Given the description of an element on the screen output the (x, y) to click on. 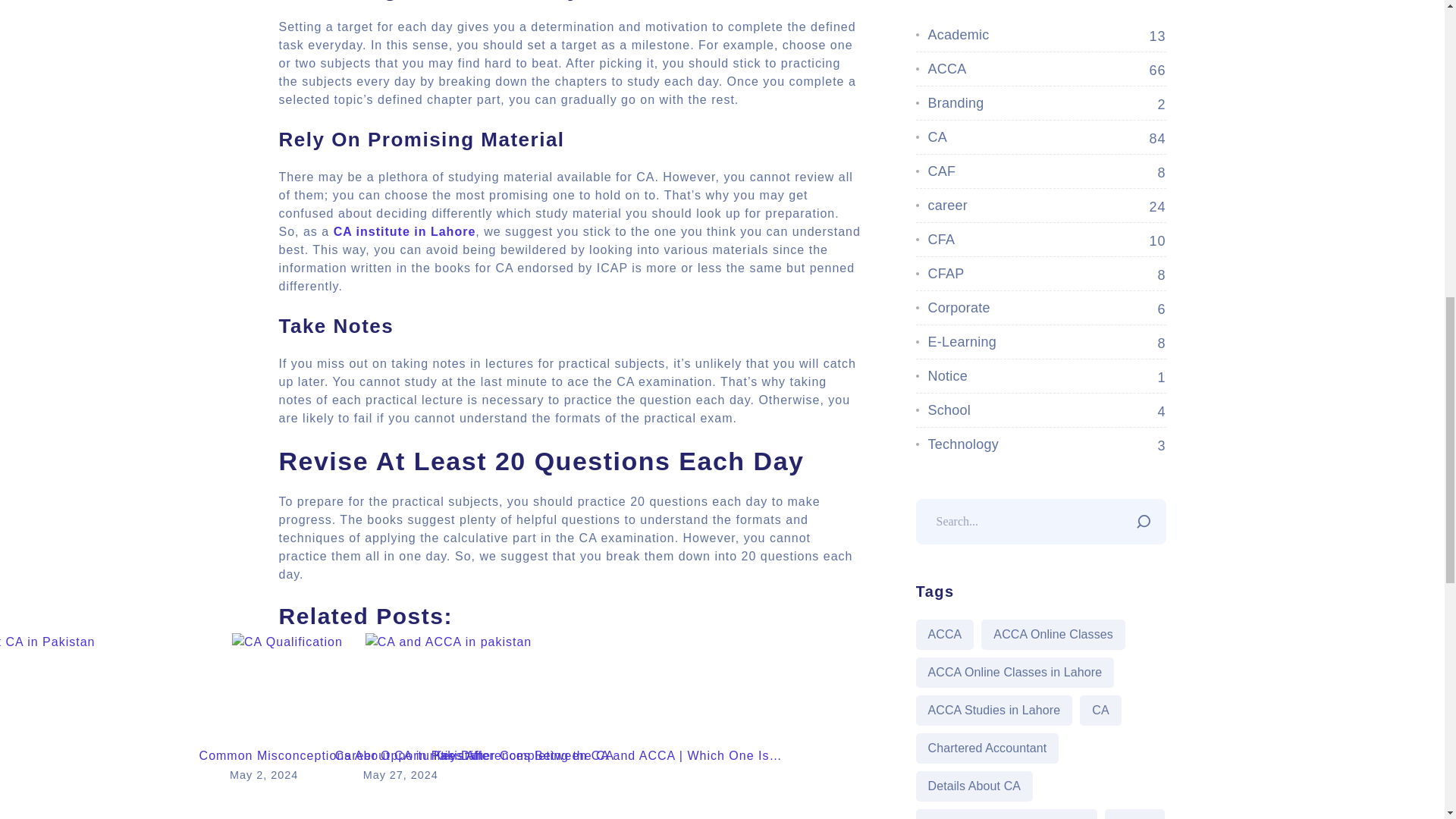
Career Opportunities After Completing the CA (474, 726)
